Given the description of an element on the screen output the (x, y) to click on. 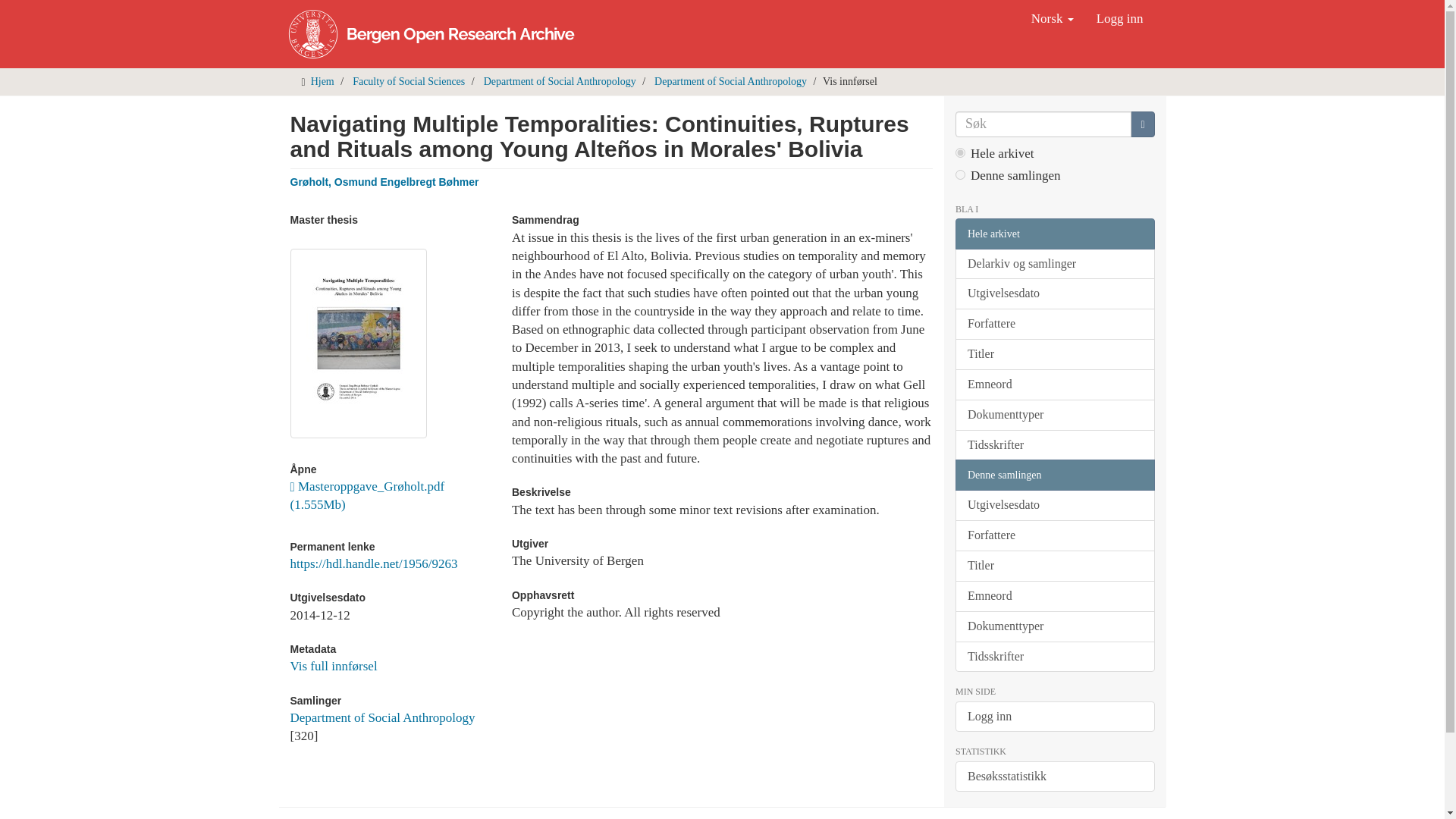
Hele arkivet (1054, 233)
Utgivelsesdato (1054, 293)
Department of Social Anthropology (559, 81)
Norsk  (1052, 18)
Emneord (1054, 384)
Faculty of Social Sciences (408, 81)
Titler (1054, 354)
Department of Social Anthropology (381, 717)
Hjem (322, 81)
Delarkiv og samlinger (1054, 264)
Logg inn (1119, 18)
Forfattere (1054, 323)
Department of Social Anthropology (729, 81)
